Given the description of an element on the screen output the (x, y) to click on. 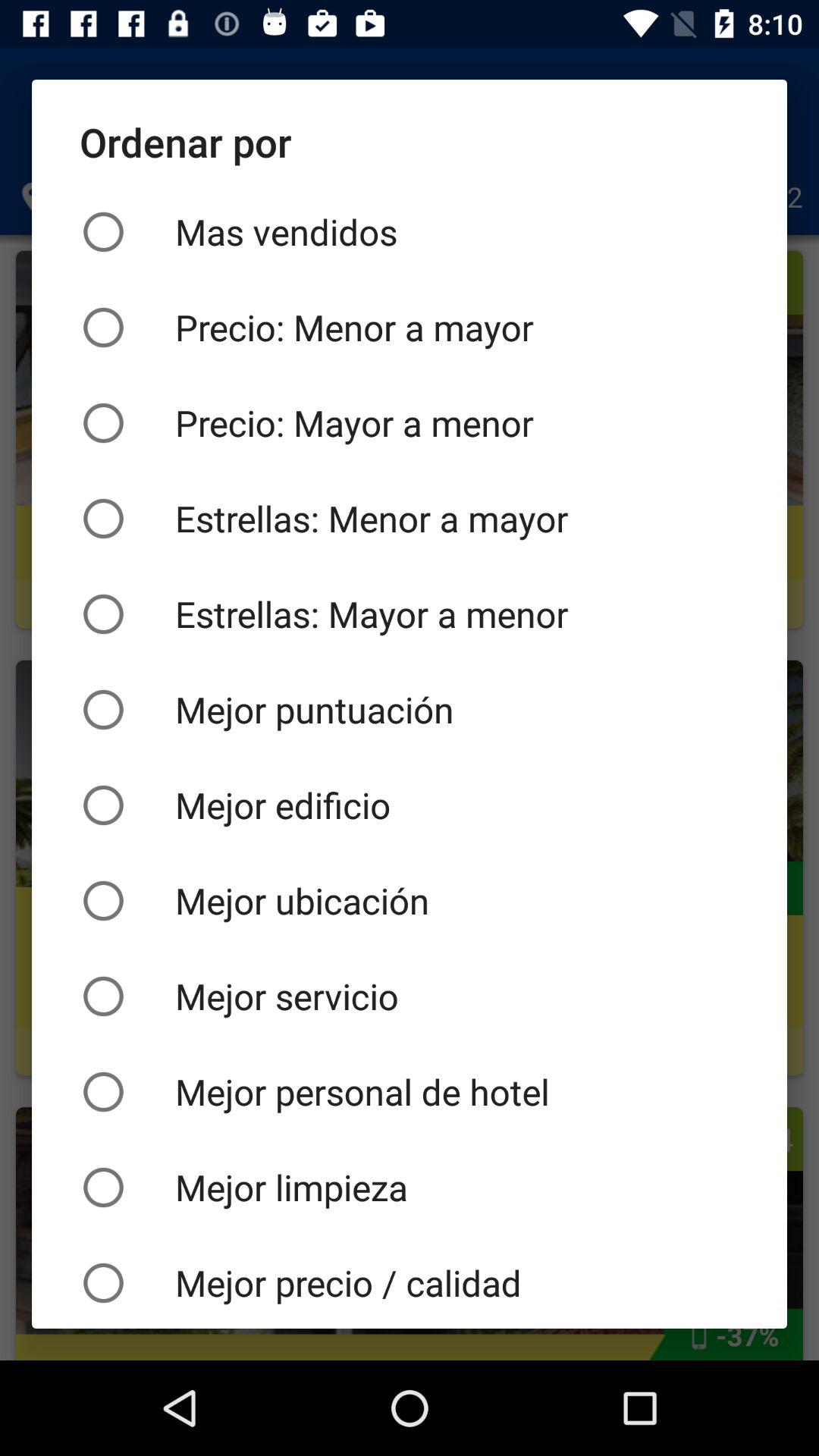
turn on the mejor limpieza (409, 1187)
